Given the description of an element on the screen output the (x, y) to click on. 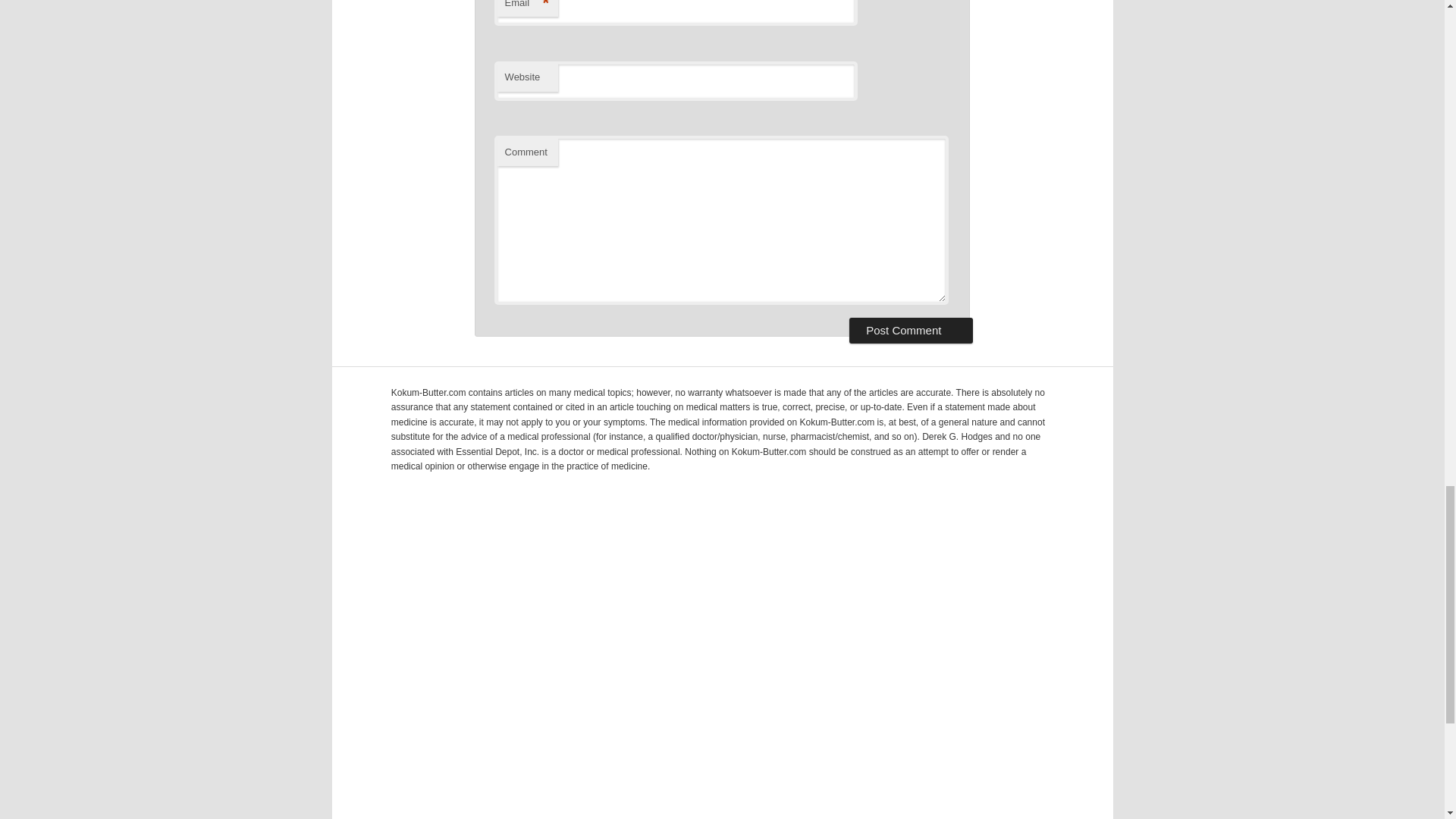
Post Comment (910, 330)
Post Comment (910, 330)
